Given the description of an element on the screen output the (x, y) to click on. 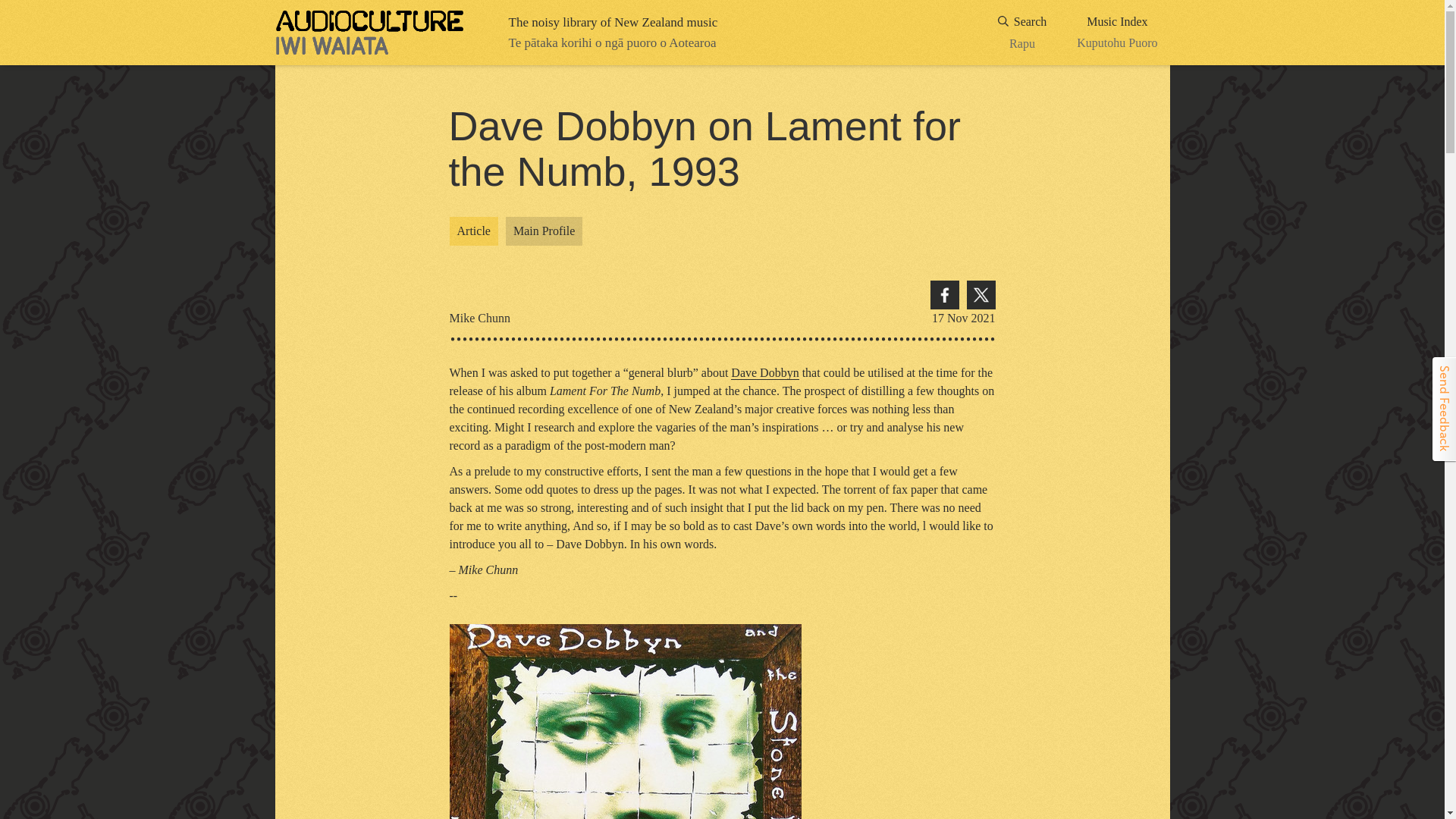
AudioCulture (369, 32)
Dave Dobbyn (1022, 32)
Dave Dobbyn (763, 373)
Article (763, 373)
Facebook (1117, 32)
Twitter (472, 231)
Main Profile (944, 294)
